Given the description of an element on the screen output the (x, y) to click on. 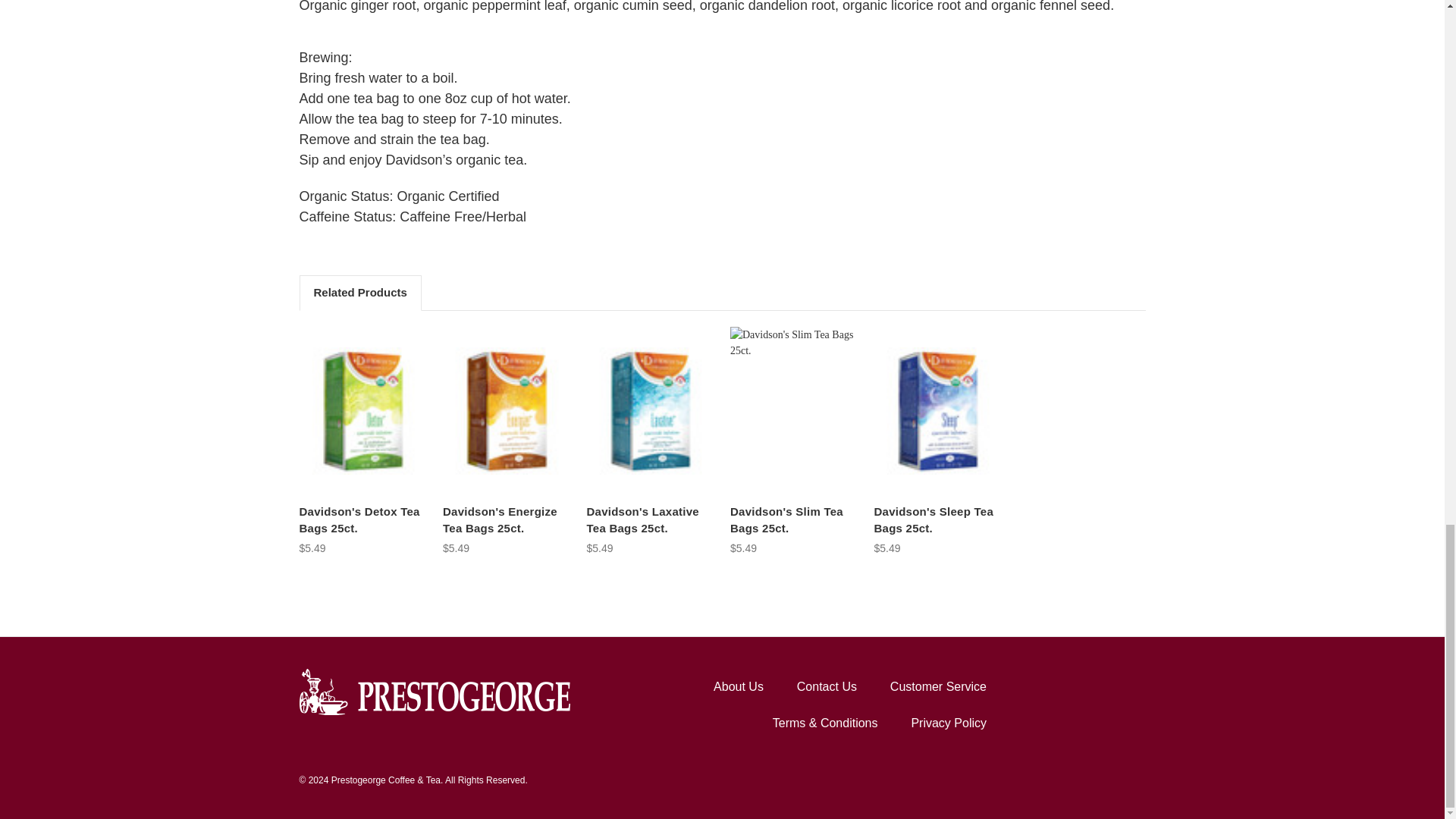
Davidson's Laxative Tea Bags 25ct. (650, 411)
Davidson's Sleep Tea Bags 25ct. (937, 411)
Davidson's Detox Tea Bags 25ct. (362, 411)
Davidson's Energize Tea Bags 25ct. (506, 411)
